Given the description of an element on the screen output the (x, y) to click on. 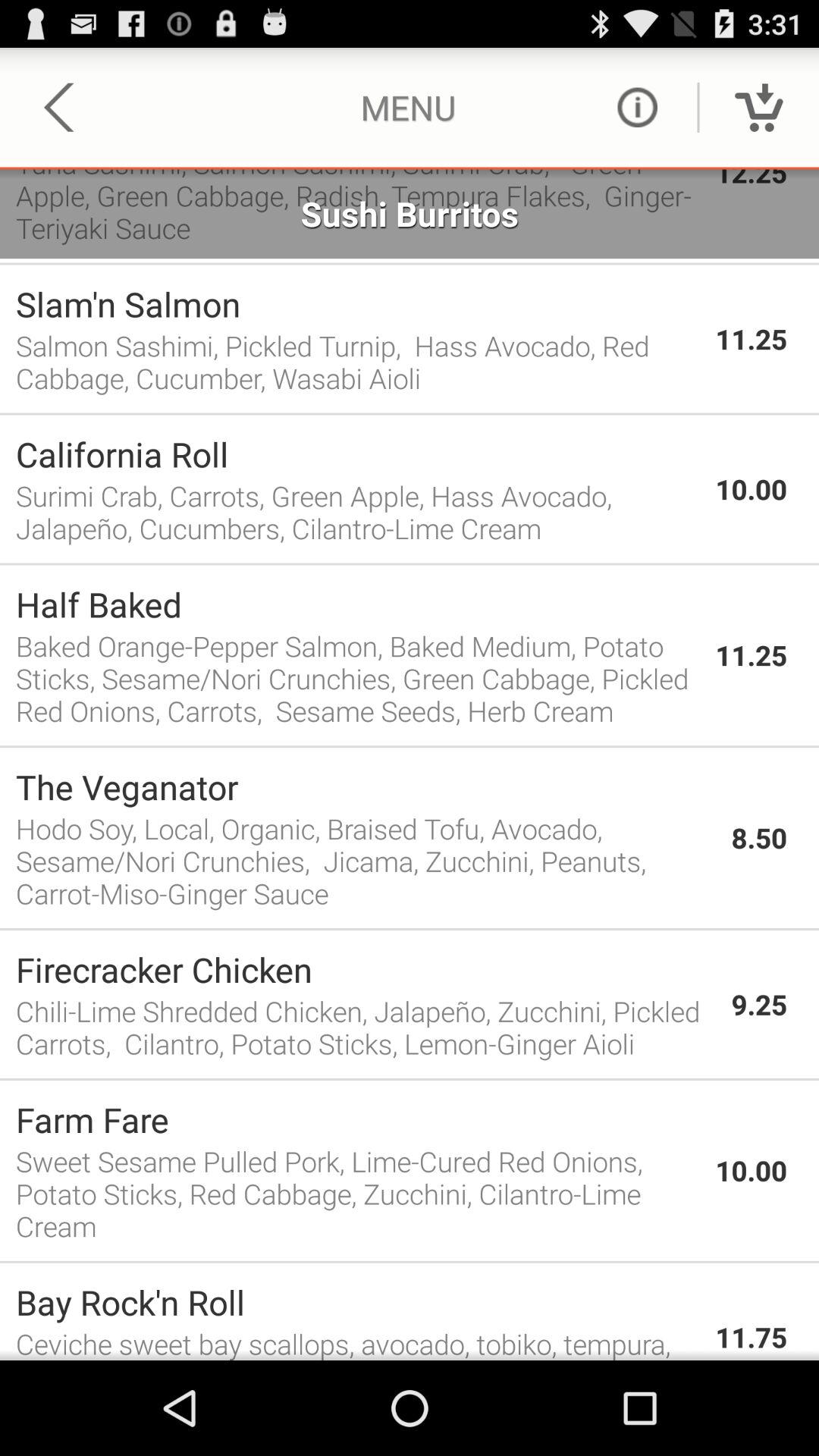
turn off icon above surimi crab carrots (357, 454)
